Given the description of an element on the screen output the (x, y) to click on. 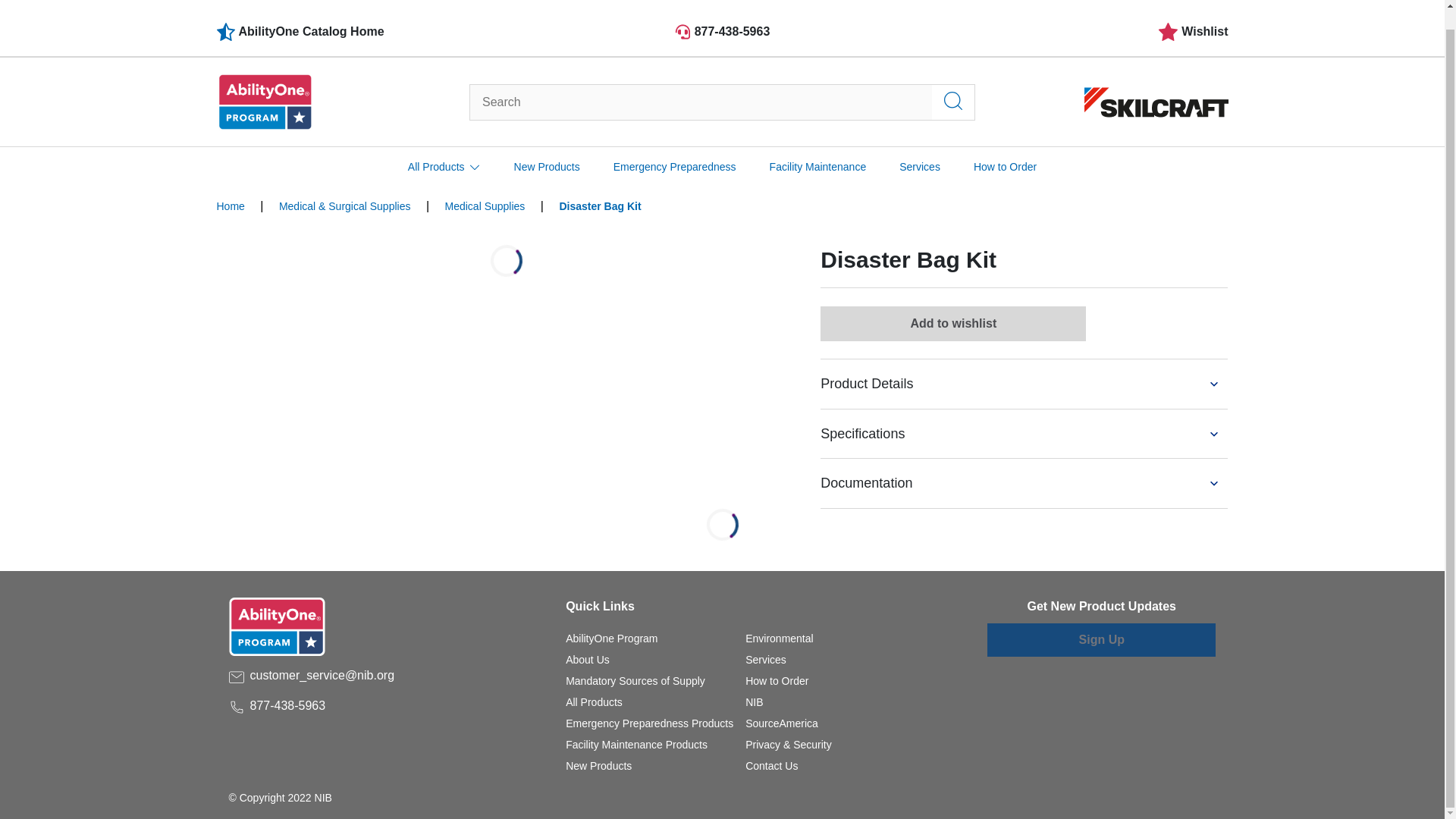
All Products (594, 702)
Medical Supplies (485, 205)
Services (765, 659)
AbilityOne Program (612, 638)
Environmental (779, 638)
SourceAmerica (781, 723)
New Products (598, 766)
Facility Maintenance (818, 148)
About Us (588, 659)
Services (919, 148)
How to Order (776, 680)
Mandatory Sources of Supply (635, 680)
All Products (594, 702)
Environmental (779, 638)
NIB (753, 702)
